Given the description of an element on the screen output the (x, y) to click on. 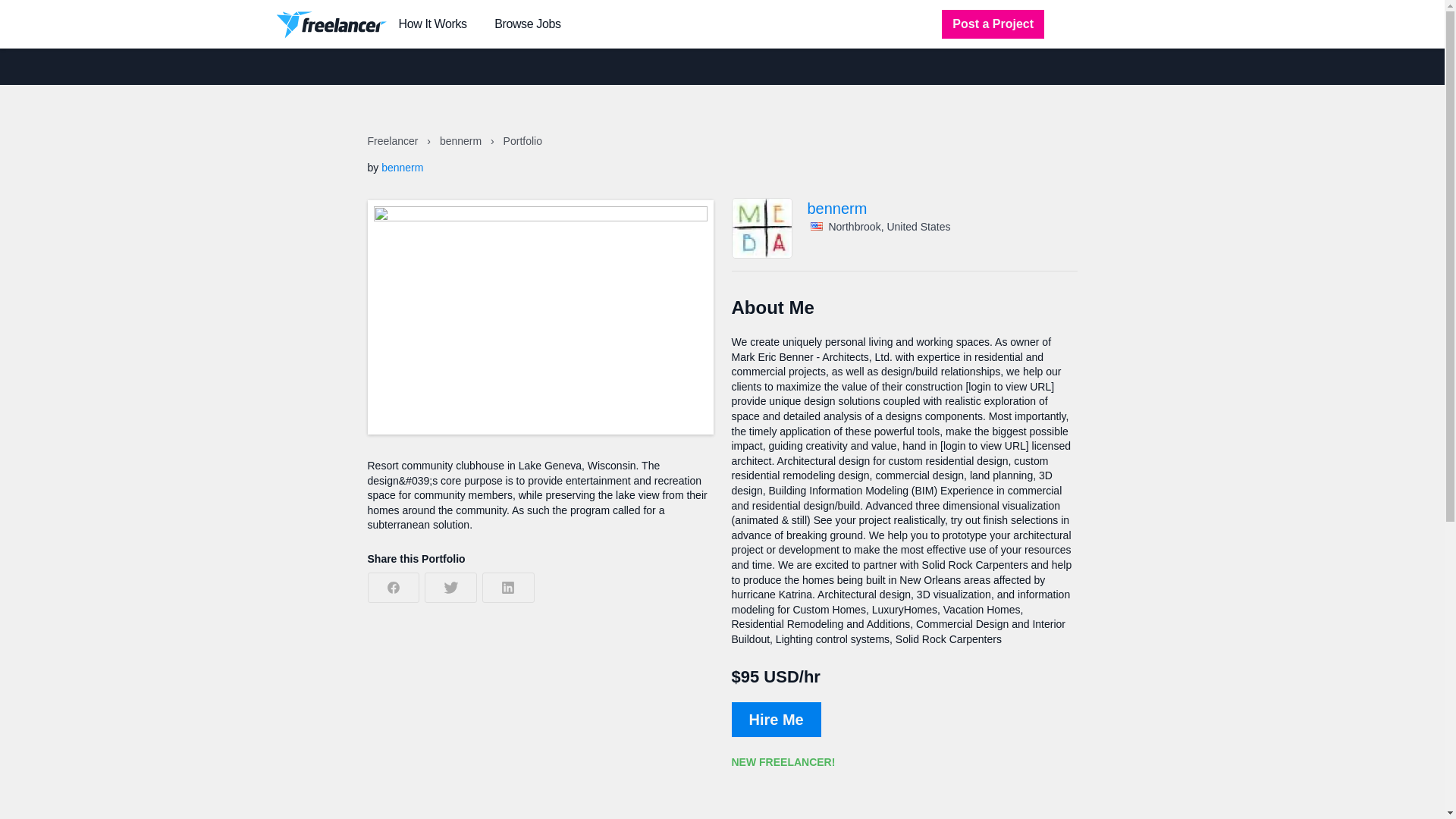
Browse Jobs (527, 24)
Share on LinkedIn (507, 587)
Share on Twitter (450, 587)
Freelancer (393, 141)
Portfolio (522, 141)
Share on Facebook (392, 587)
How It Works (432, 24)
bennerm (461, 141)
bennerm (402, 167)
Post a Project (992, 23)
